Given the description of an element on the screen output the (x, y) to click on. 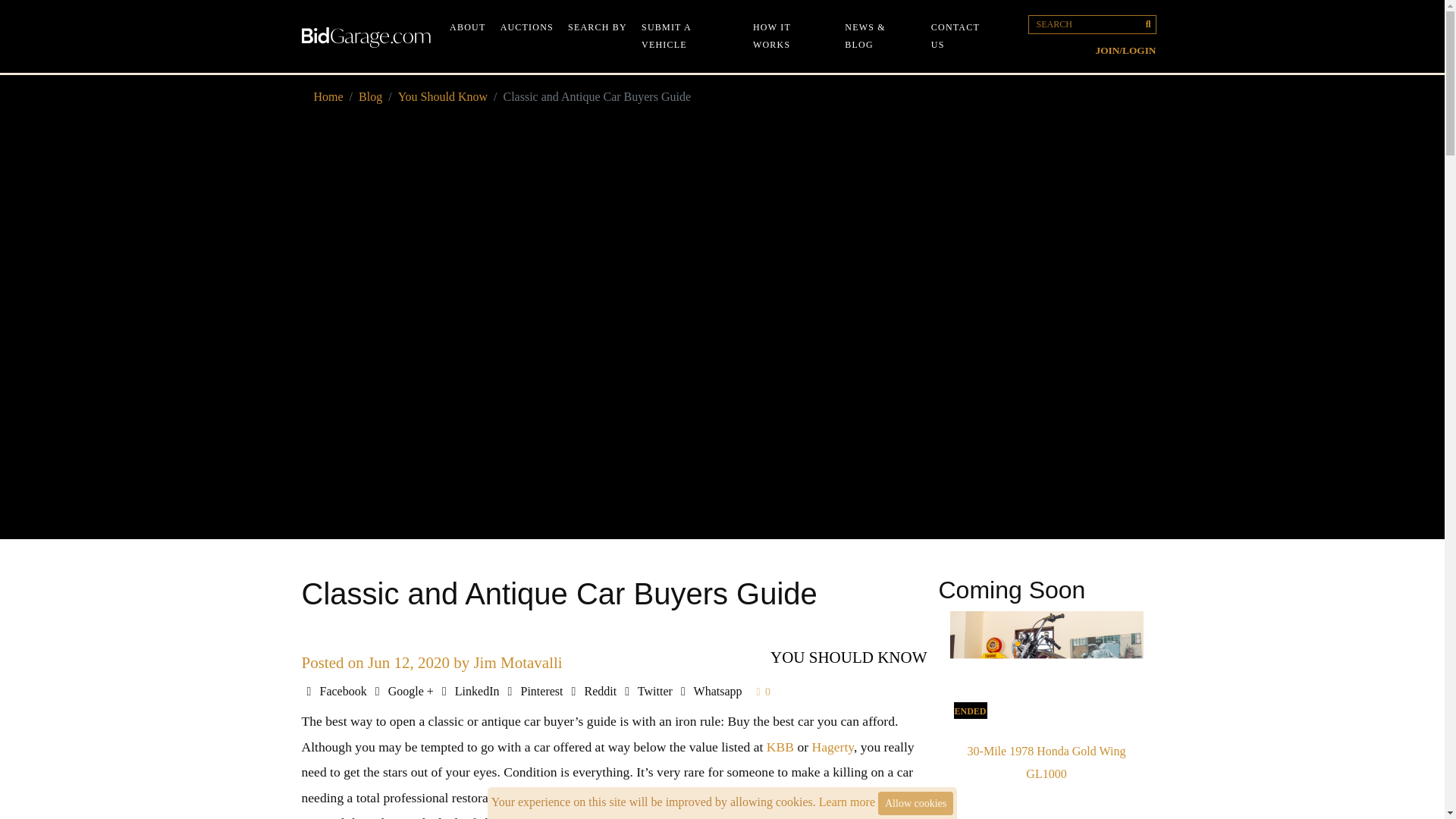
KBB (780, 746)
CONTACT US (963, 36)
Be the first to like (764, 691)
SEARCH BY (597, 27)
SUBMIT A VEHICLE (689, 36)
AUCTIONS (526, 27)
Hagerty (831, 746)
Jim Motavalli (517, 662)
ABOUT (467, 27)
YOU SHOULD KNOW (848, 657)
